Given the description of an element on the screen output the (x, y) to click on. 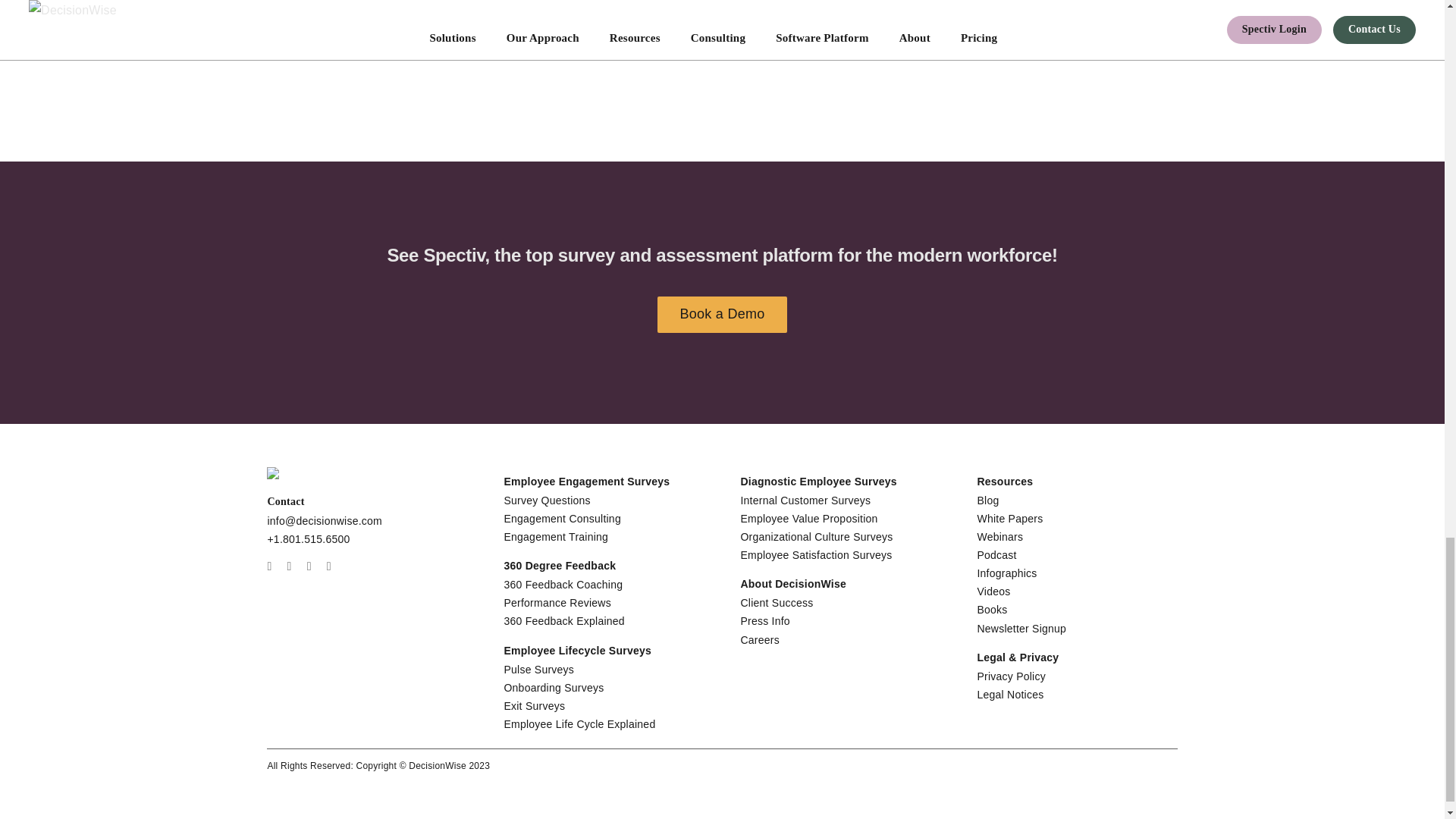
decisionwise-logo-dark (310, 472)
Prescriptive Recommendations (958, 52)
